Given the description of an element on the screen output the (x, y) to click on. 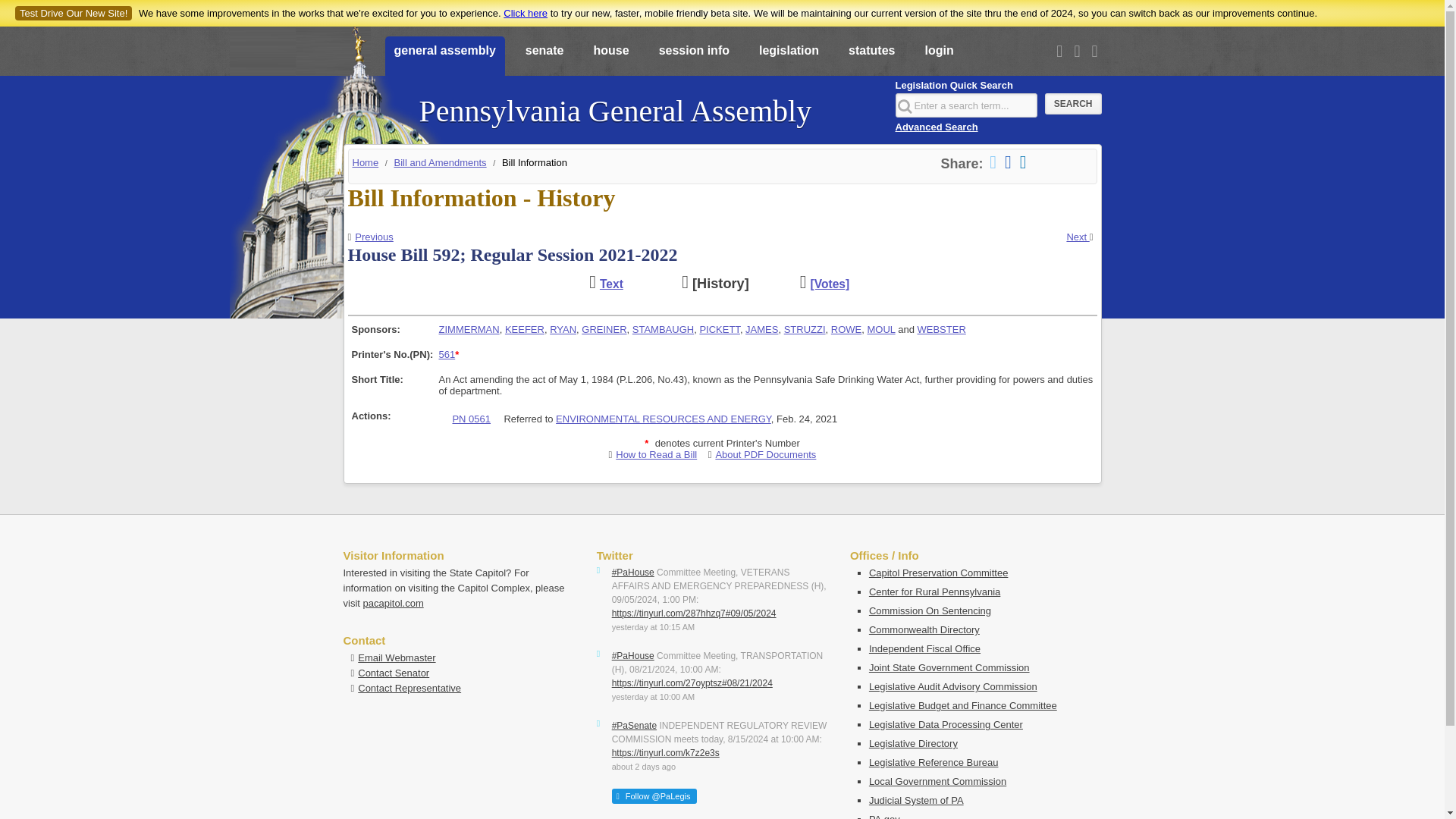
house (610, 57)
Click here (525, 12)
Search (1073, 103)
senate (544, 57)
general assembly (445, 57)
session info (693, 57)
Advanced Search (935, 126)
login (938, 57)
legislation (788, 57)
Search (1073, 103)
